Given the description of an element on the screen output the (x, y) to click on. 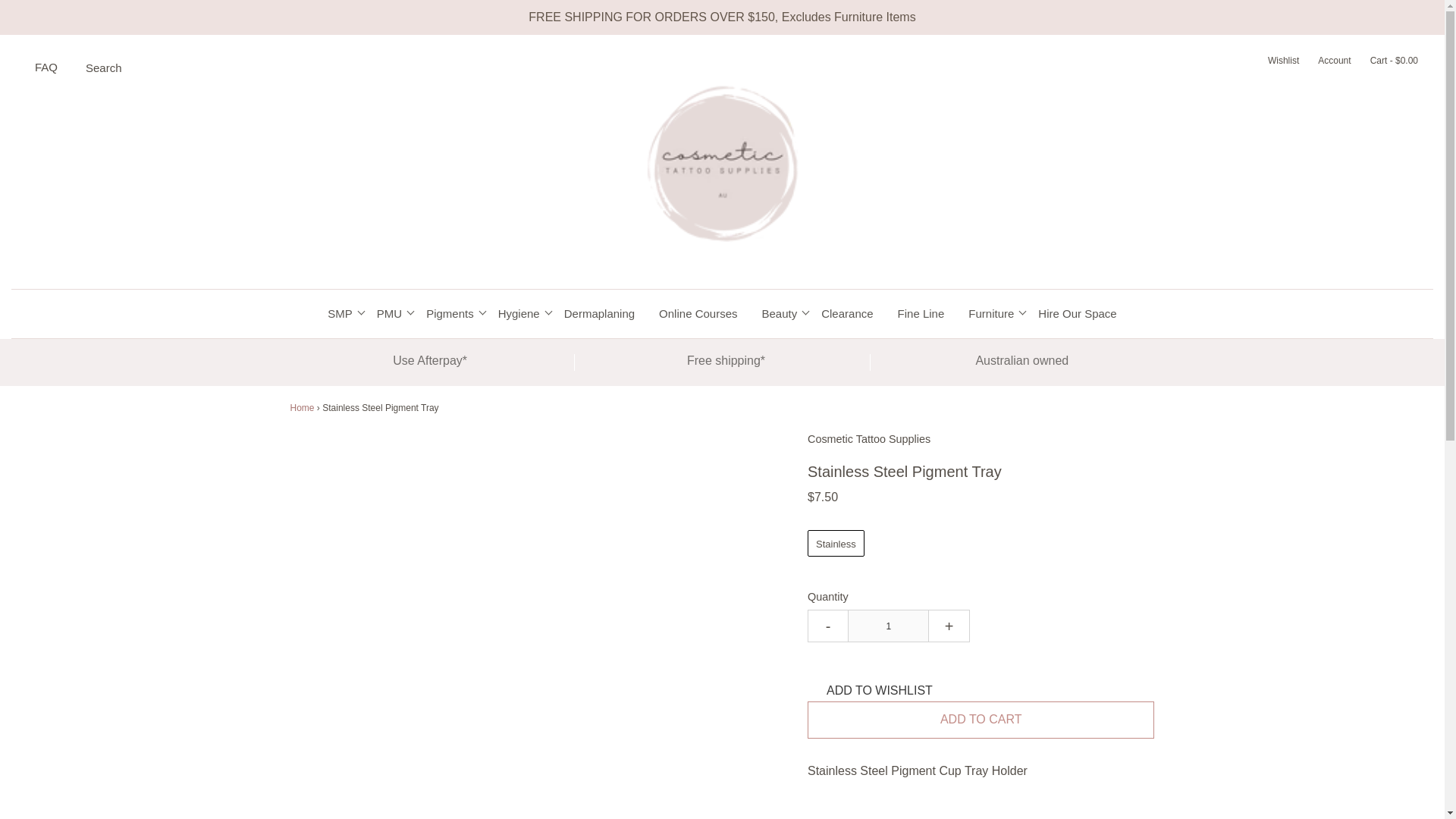
Cart (1384, 60)
Log in (1324, 60)
1 (887, 625)
Back to the frontpage (301, 407)
Search (101, 67)
